Given the description of an element on the screen output the (x, y) to click on. 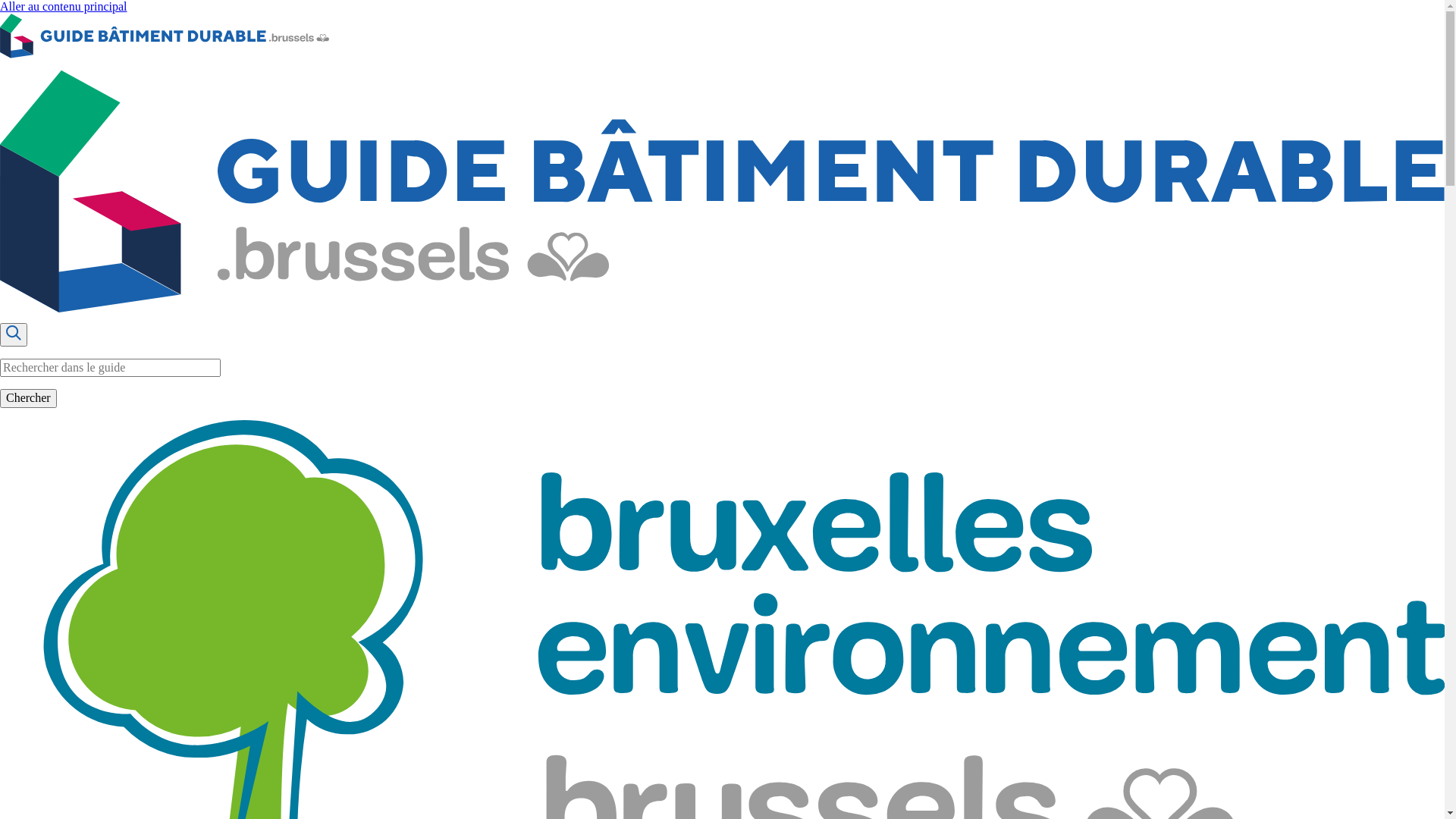
Aller au contenu principal Element type: text (63, 6)
Chercher Element type: text (28, 398)
